Given the description of an element on the screen output the (x, y) to click on. 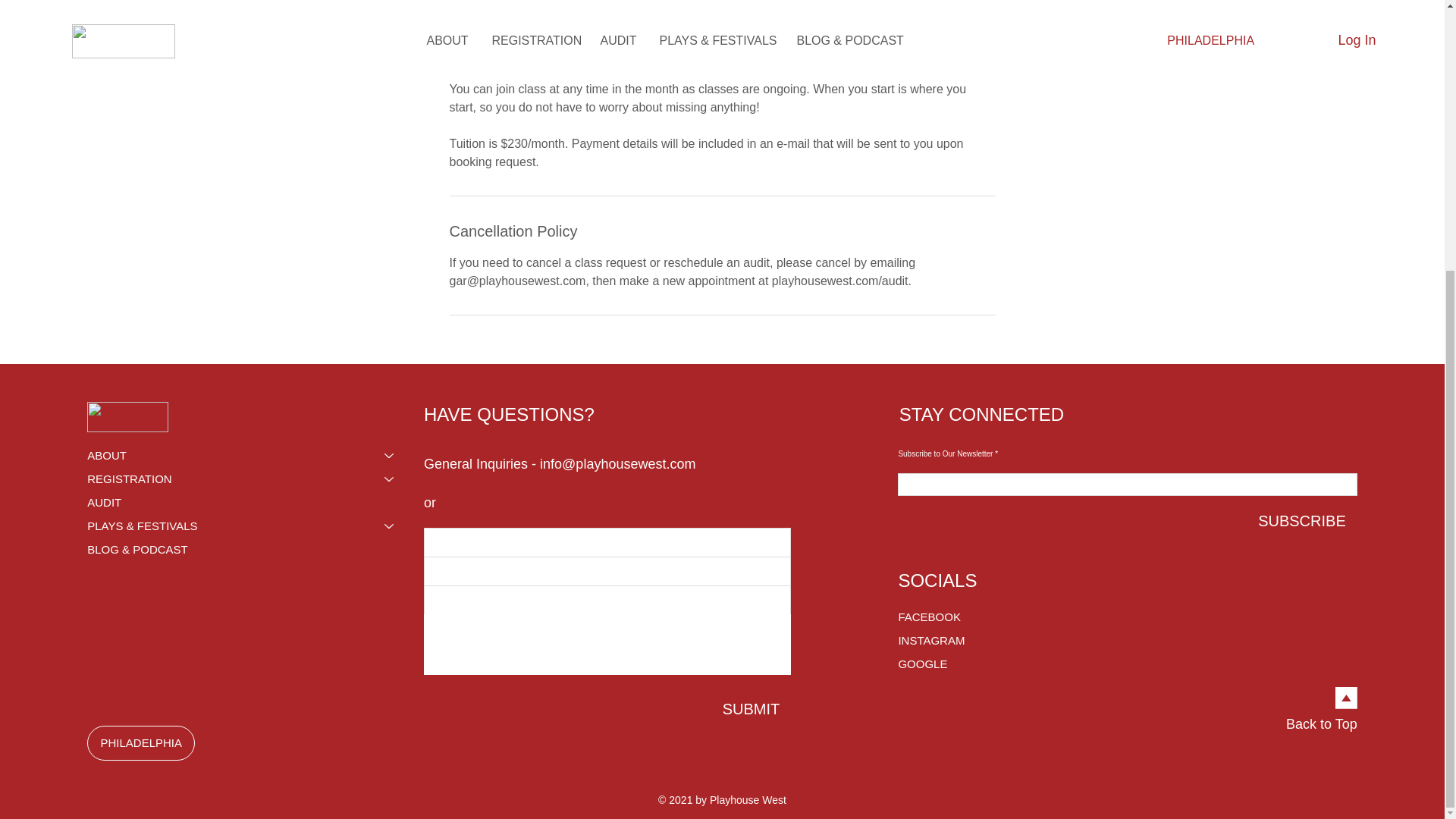
SUBSCRIBE (1301, 520)
GOOGLE (951, 663)
INSTAGRAM (951, 639)
SUBMIT (751, 709)
FACEBOOK (951, 616)
AUDIT (248, 502)
